Given the description of an element on the screen output the (x, y) to click on. 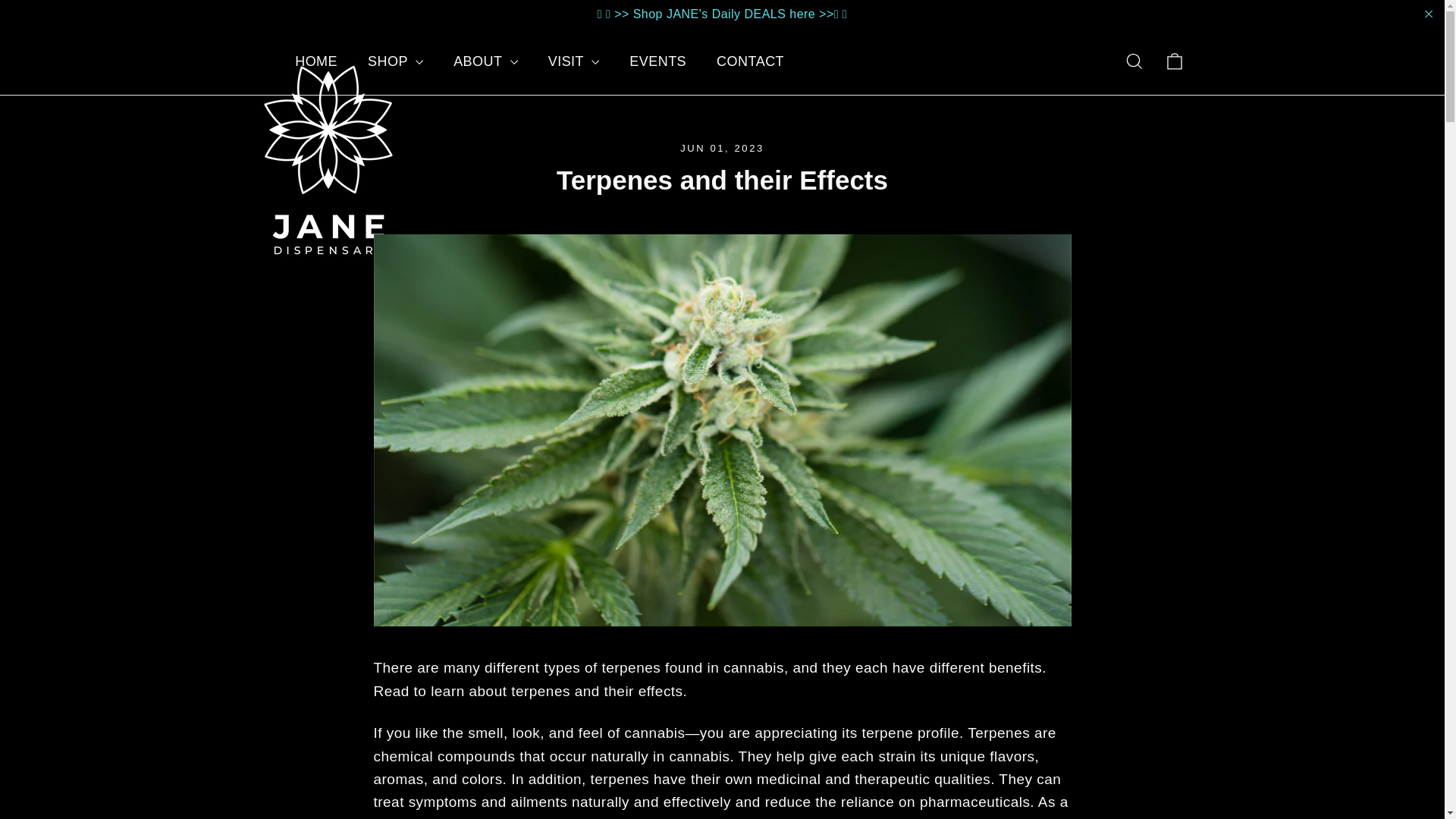
ABOUT (485, 61)
SHOP (395, 61)
HOME (315, 61)
VISIT (573, 61)
